Given the description of an element on the screen output the (x, y) to click on. 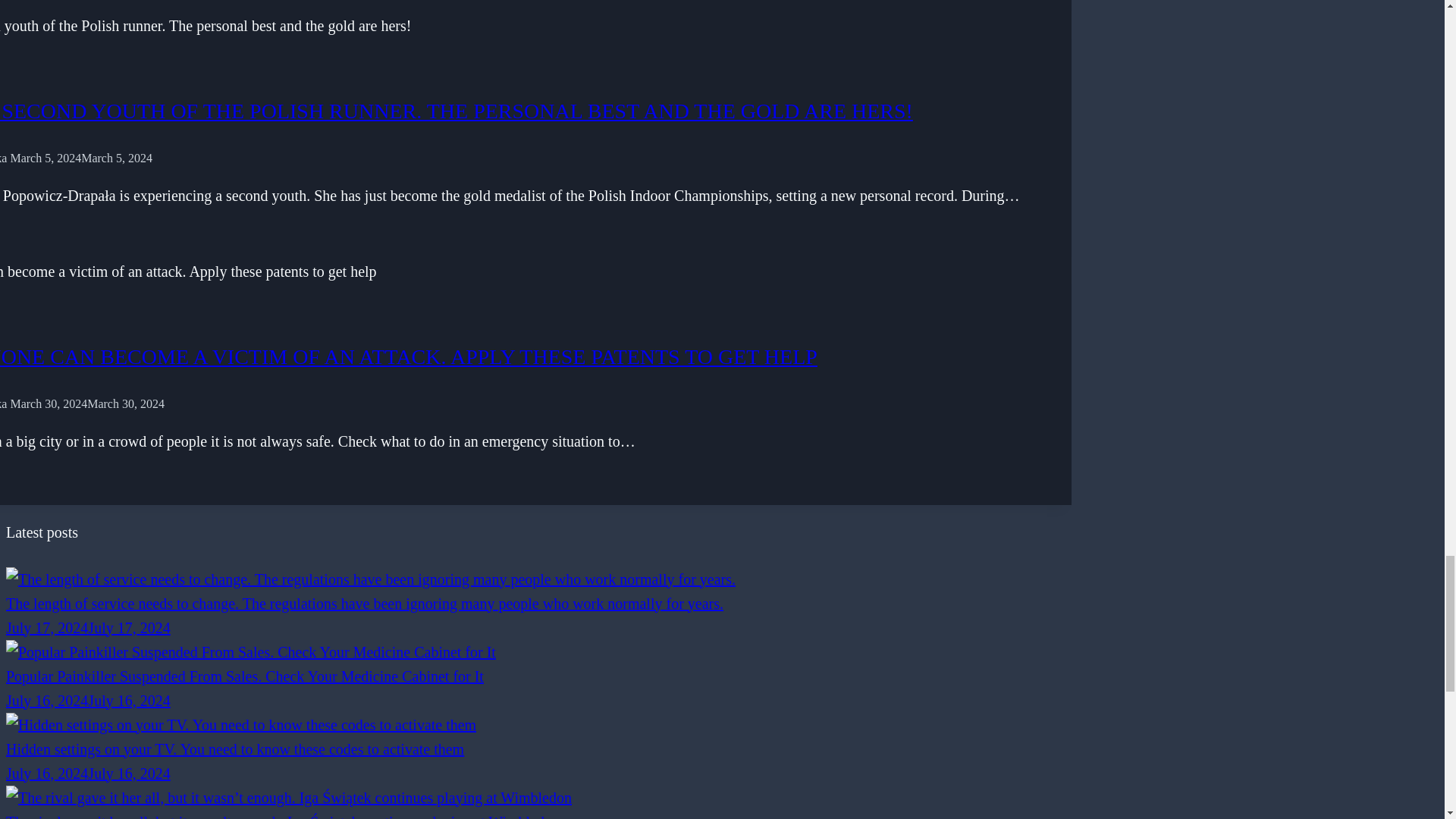
10:26 pm (87, 773)
July 17, 2024July 17, 2024 (87, 627)
1:26 am (87, 627)
11:26 pm (87, 700)
July 16, 2024July 16, 2024 (87, 773)
July 16, 2024July 16, 2024 (87, 700)
